Given the description of an element on the screen output the (x, y) to click on. 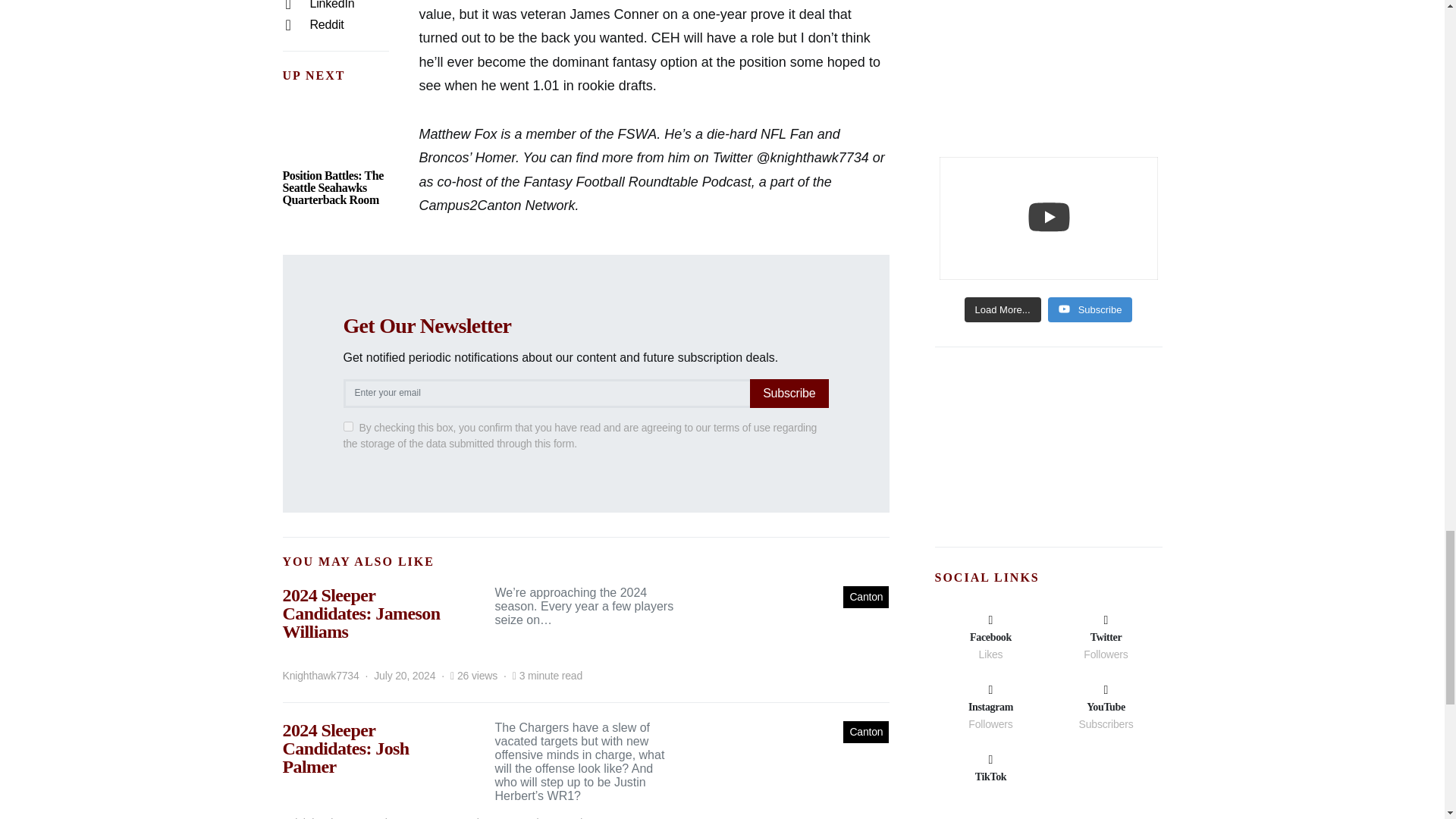
View all posts by Knighthawk7734 (320, 675)
View all posts by Knighthawk7734 (320, 816)
on (347, 426)
